Given the description of an element on the screen output the (x, y) to click on. 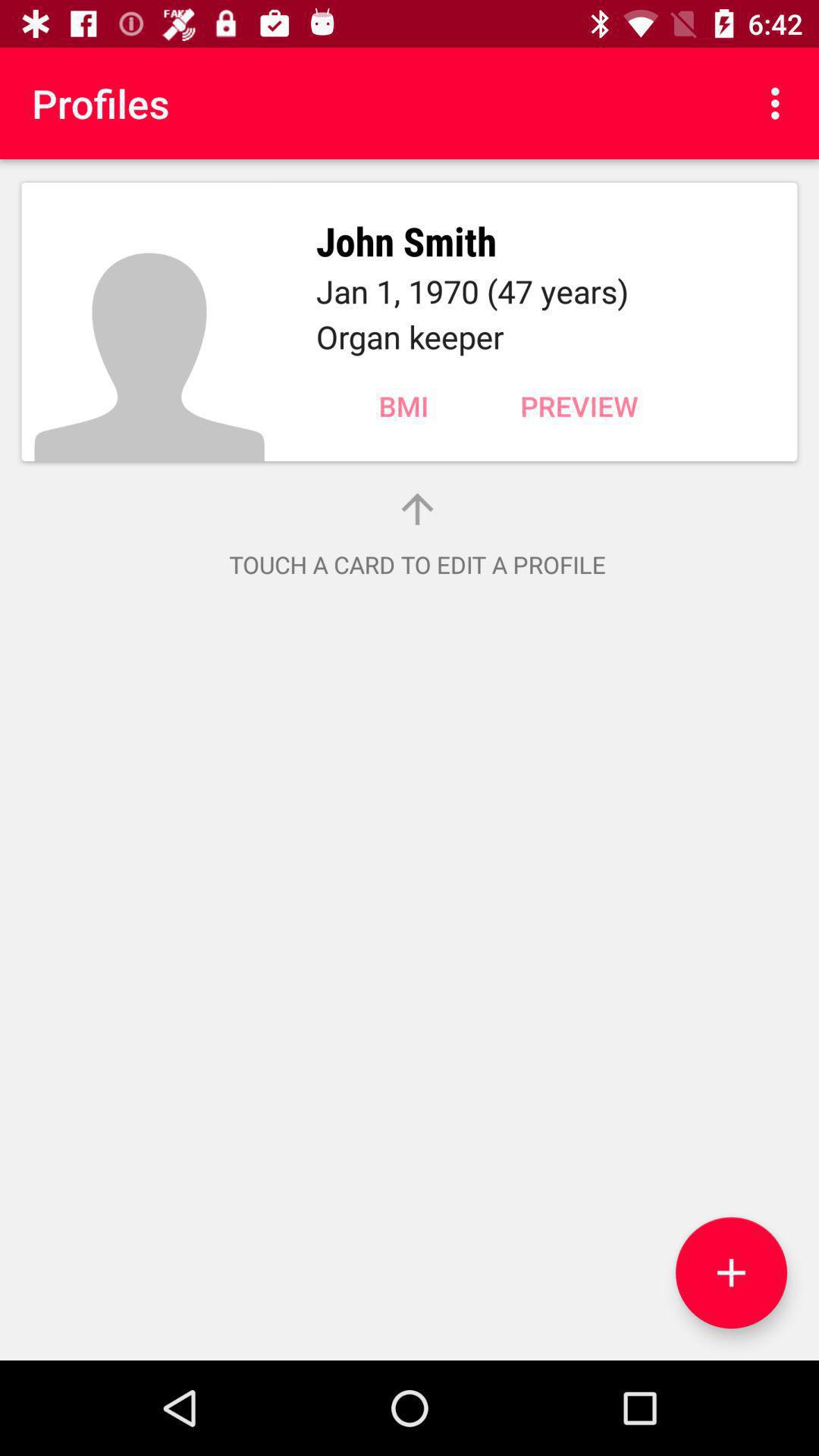
open item above the touch a card item (578, 405)
